Given the description of an element on the screen output the (x, y) to click on. 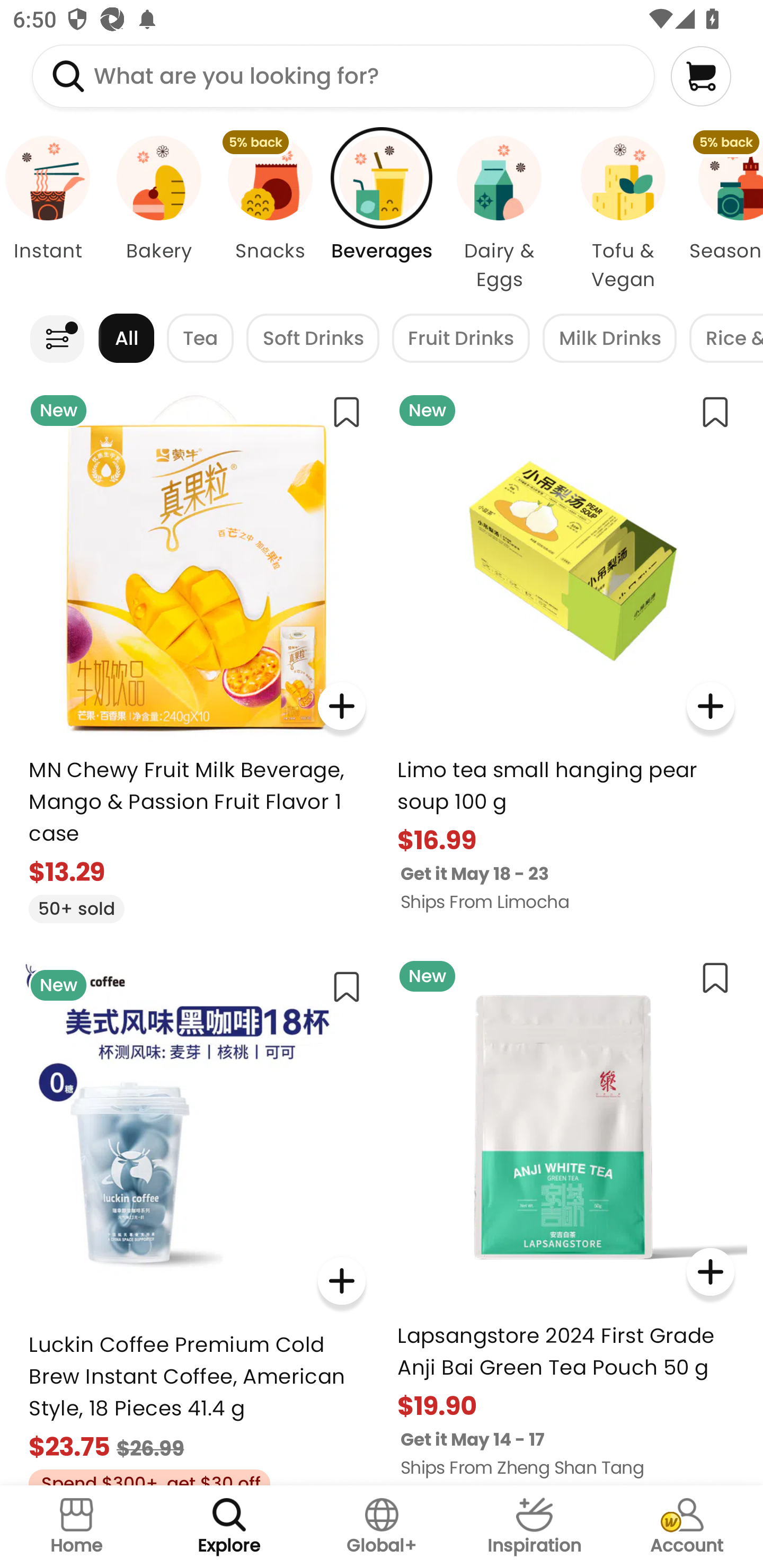
What are you looking for? (343, 75)
Instant (51, 214)
Bakery (158, 214)
5% back Snacks (269, 214)
Beverages (381, 214)
Dairy & Eggs (498, 214)
Tofu & Vegan (622, 214)
5% back Seasoning (724, 214)
All (126, 337)
Tea (200, 337)
Soft Drinks (312, 337)
Fruit Drinks (460, 337)
Milk Drinks (609, 337)
Rice & Soy Drinks (725, 337)
Home (76, 1526)
Explore (228, 1526)
Global+ (381, 1526)
Inspiration (533, 1526)
Account (686, 1526)
